Given the description of an element on the screen output the (x, y) to click on. 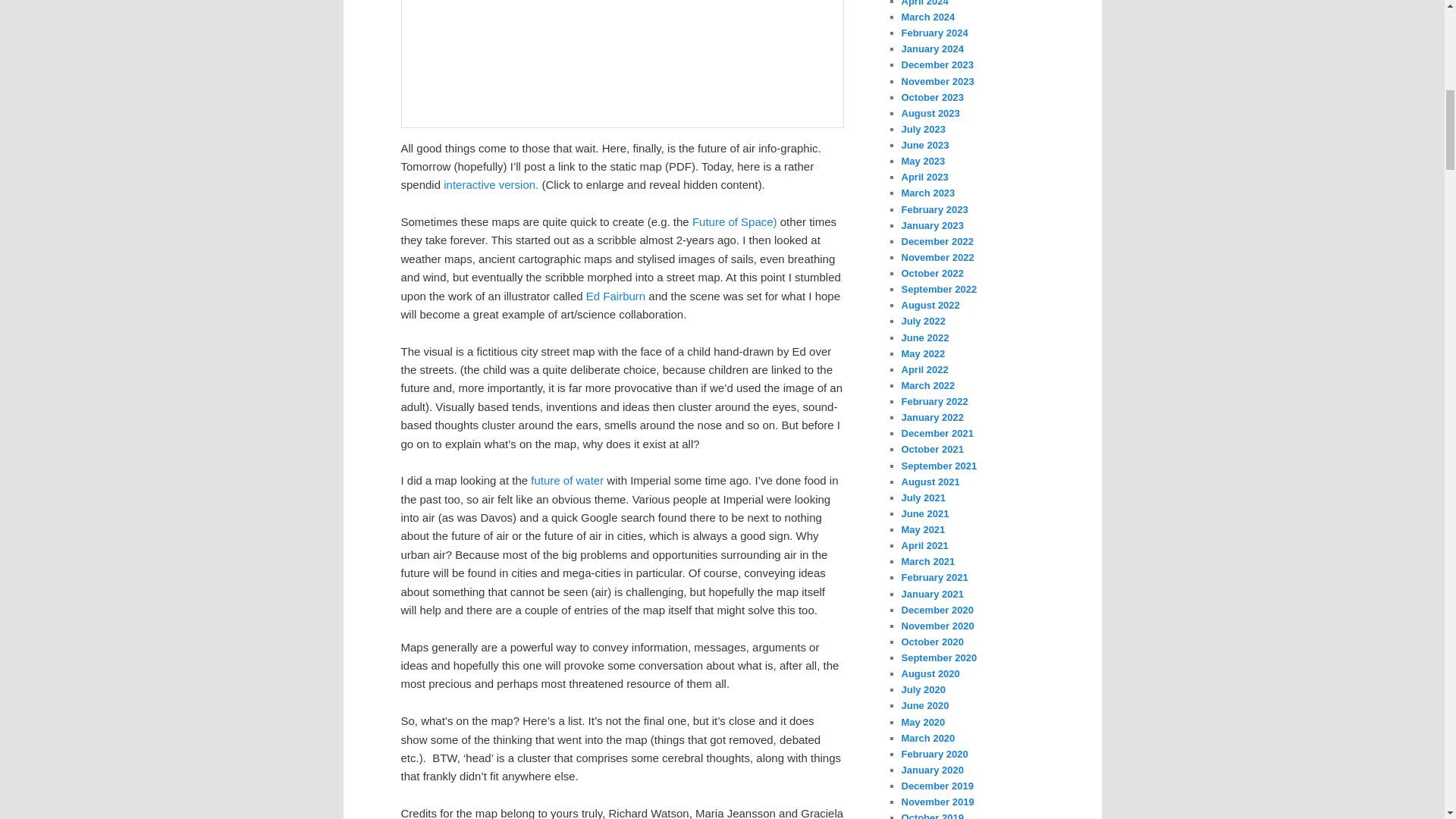
interactive version. (492, 184)
future of water (569, 480)
Ed Fairburn (617, 295)
